Given the description of an element on the screen output the (x, y) to click on. 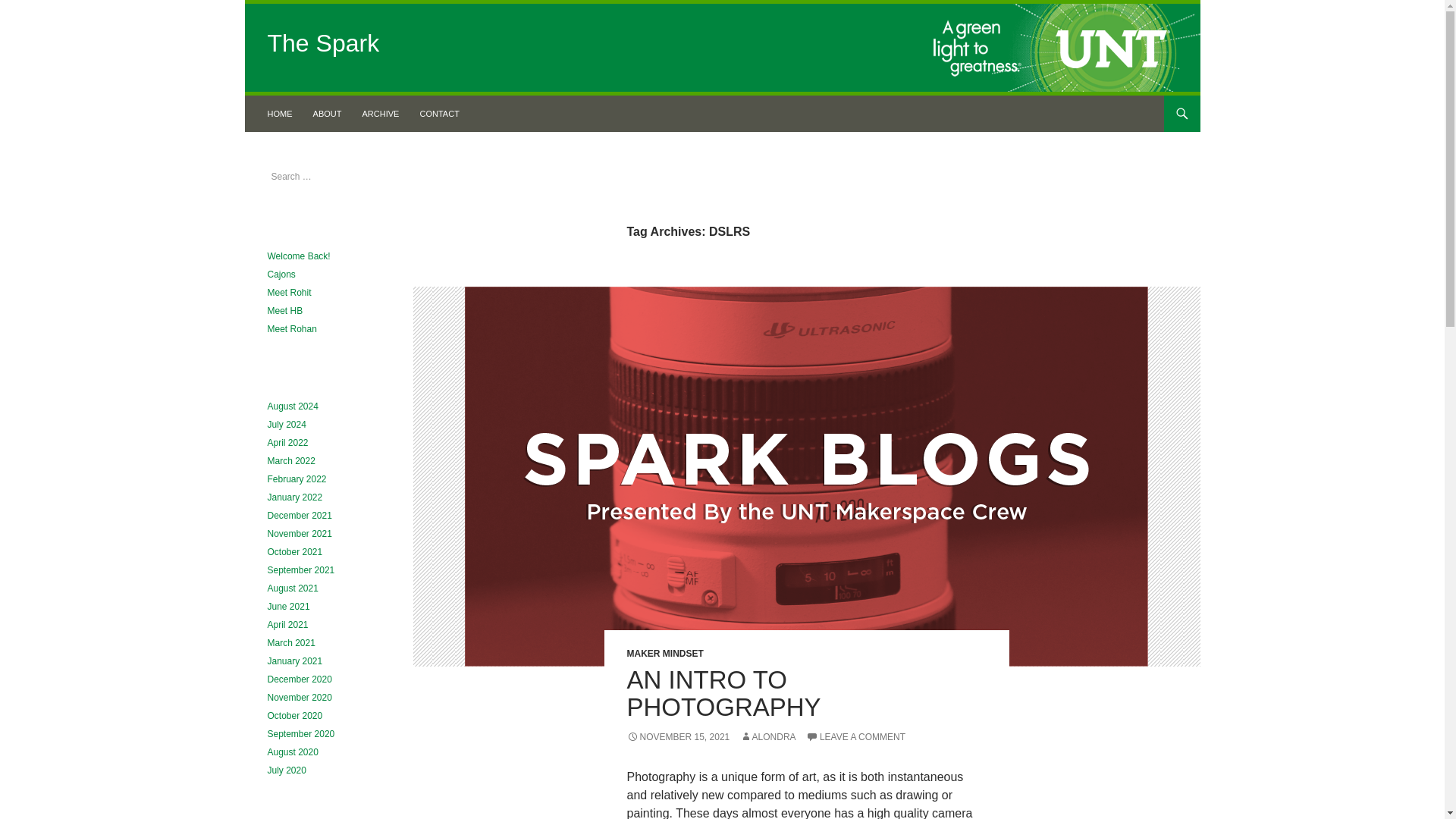
LEAVE A COMMENT (855, 737)
October 2021 (293, 552)
January 2022 (293, 497)
The Spark (299, 113)
ABOUT (327, 113)
Cajons (280, 274)
August 2024 (291, 406)
February 2022 (296, 479)
Meet Rohit (288, 292)
Just another UNT Libraries Blogs site (322, 42)
